Given the description of an element on the screen output the (x, y) to click on. 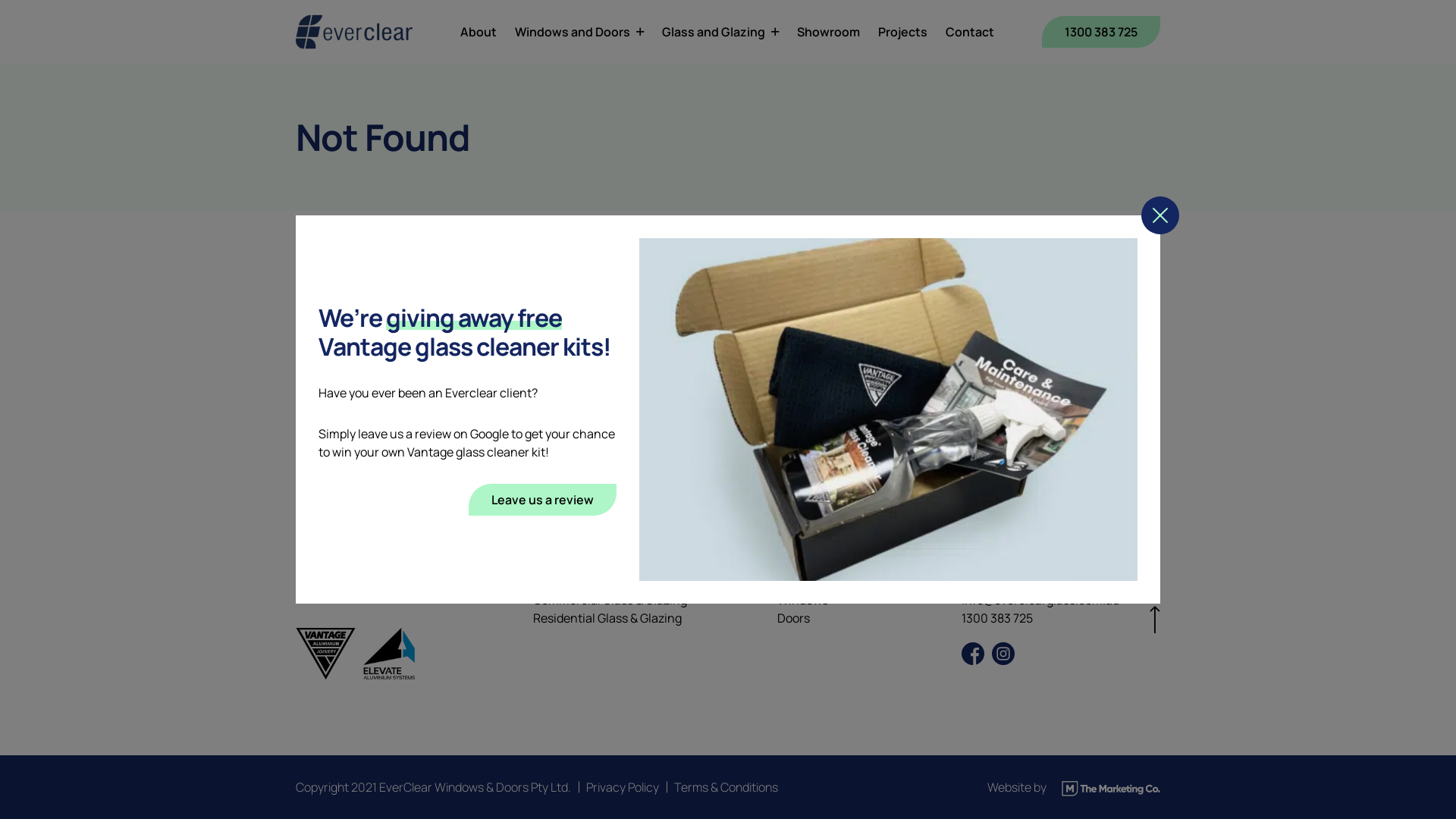
Commercial Glass & Glazing Element type: text (609, 599)
Showroom Element type: text (828, 31)
Terms & Conditions Element type: text (726, 787)
Projects Element type: text (902, 31)
Doors Element type: text (793, 617)
Residential Glass & Glazing Element type: text (606, 617)
Windows and Doors Element type: text (578, 31)
Go back to home Element type: text (366, 349)
Contact Element type: text (969, 31)
Leave us a review Element type: text (542, 499)
About Element type: text (478, 31)
1300 383 725 Element type: text (996, 617)
1300 383 725 Element type: text (1100, 31)
info@everclearglass.com.au Element type: text (1040, 599)
Privacy Policy Element type: text (622, 787)
Glass and Glazing Element type: text (720, 31)
Windows Element type: text (802, 599)
